Given the description of an element on the screen output the (x, y) to click on. 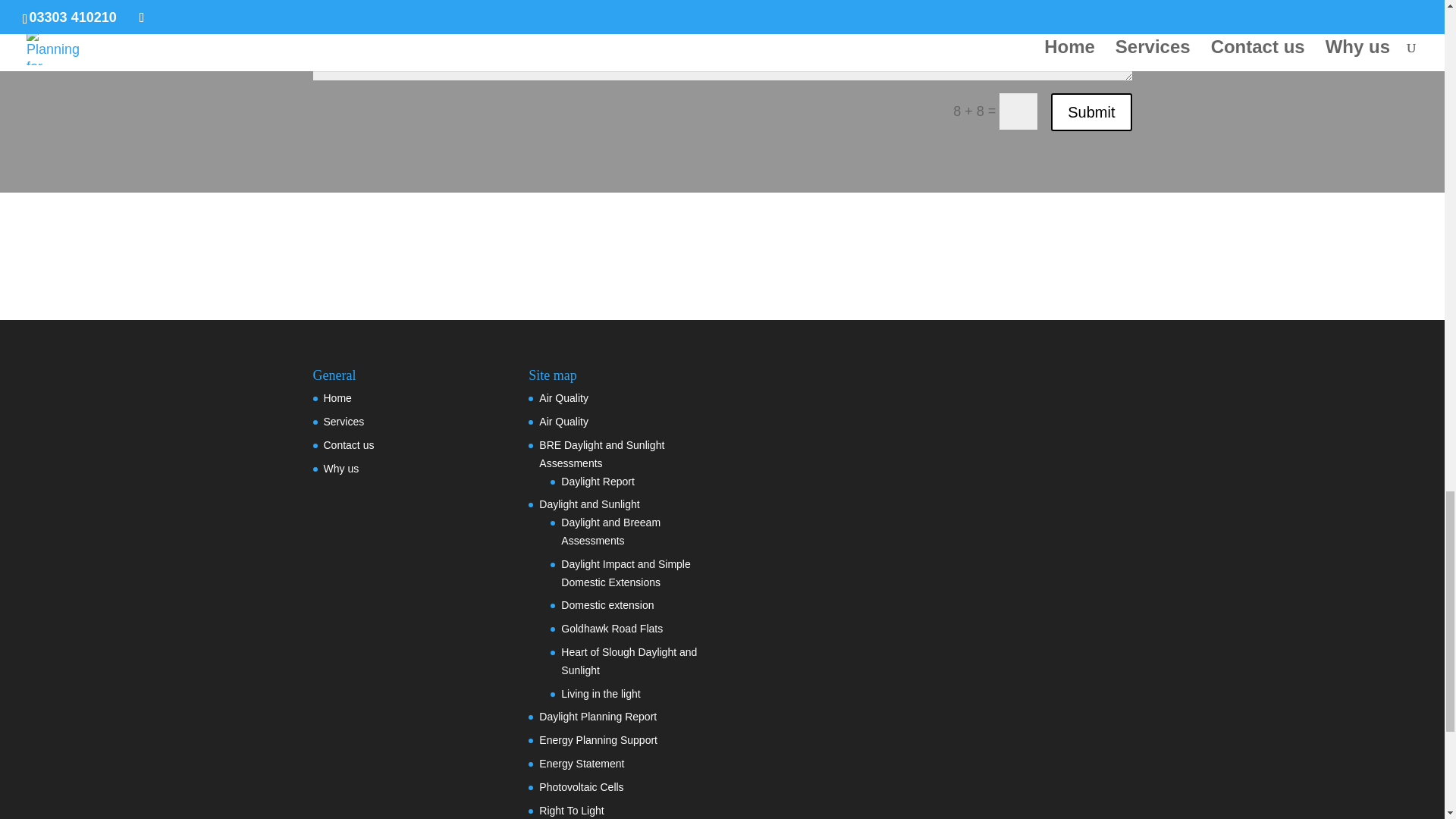
Services (343, 421)
Daylight Impact and Simple Domestic Extensions (625, 572)
Daylight Planning Report (597, 716)
Daylight and Sunlight (588, 503)
Daylight Report (597, 481)
Right To Light (571, 810)
Daylight and Breeam Assessments (610, 531)
Contact us (348, 444)
Domestic extension (606, 604)
Energy Planning Support (598, 739)
Air Quality (563, 398)
Goldhawk Road Flats (611, 628)
Photovoltaic Cells (580, 787)
Living in the light (600, 693)
BRE Daylight and Sunlight Assessments (600, 453)
